Given the description of an element on the screen output the (x, y) to click on. 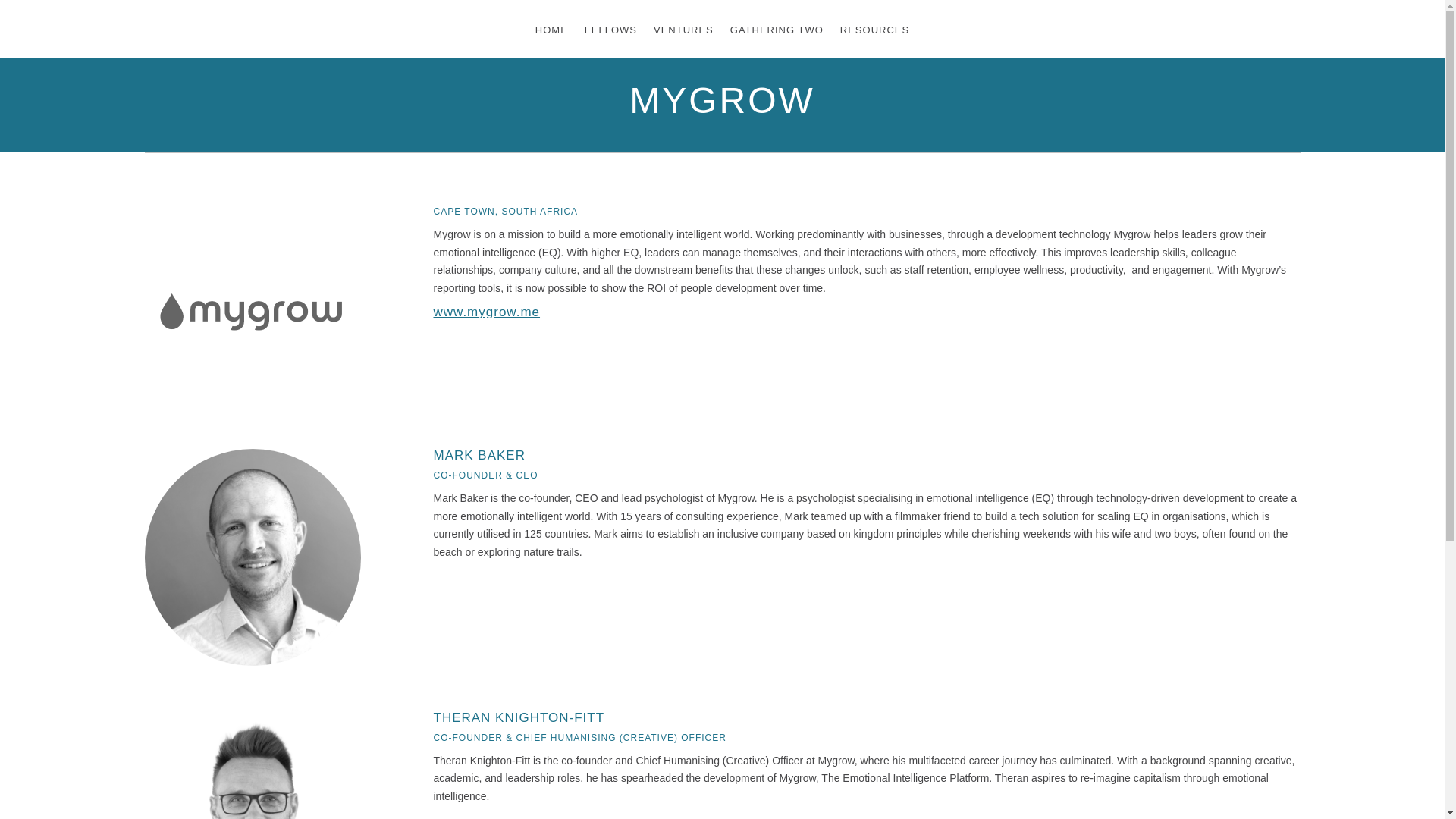
7 (250, 311)
tri.fellow.2024. Theran Knighton-Fitt (252, 765)
